Given the description of an element on the screen output the (x, y) to click on. 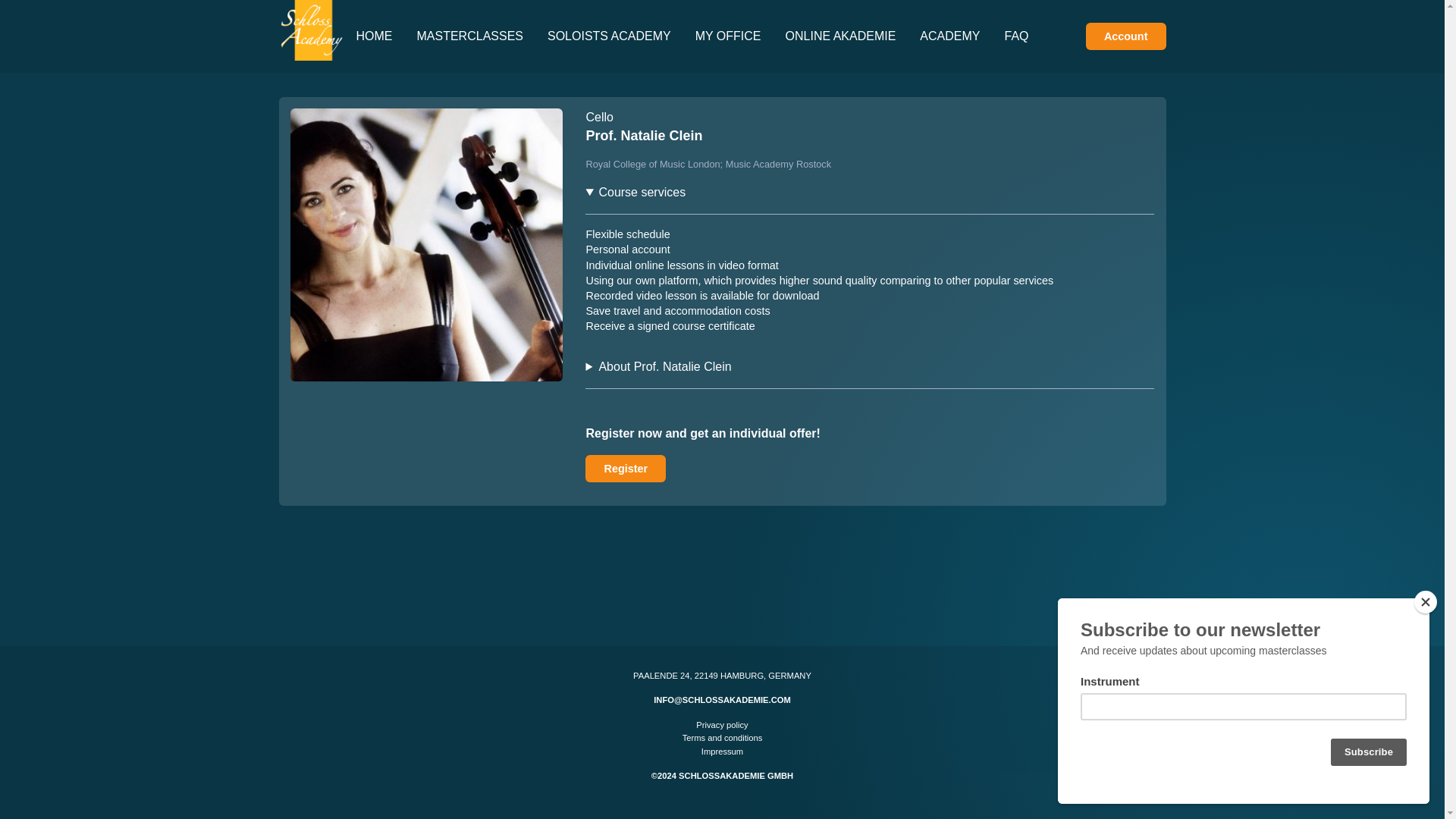
Terms and conditions (722, 738)
FAQ (1016, 36)
Impressum (721, 752)
MASTERCLASSES (469, 36)
MY OFFICE (727, 36)
MASTERCLASSES (469, 36)
Register (625, 469)
Log in or create an account (1126, 36)
Privacy policy (721, 725)
Soloists Academy (608, 36)
My office (727, 36)
About Academy (949, 36)
HOME (373, 36)
Schlossakademie (311, 36)
ACADEMY (949, 36)
